Given the description of an element on the screen output the (x, y) to click on. 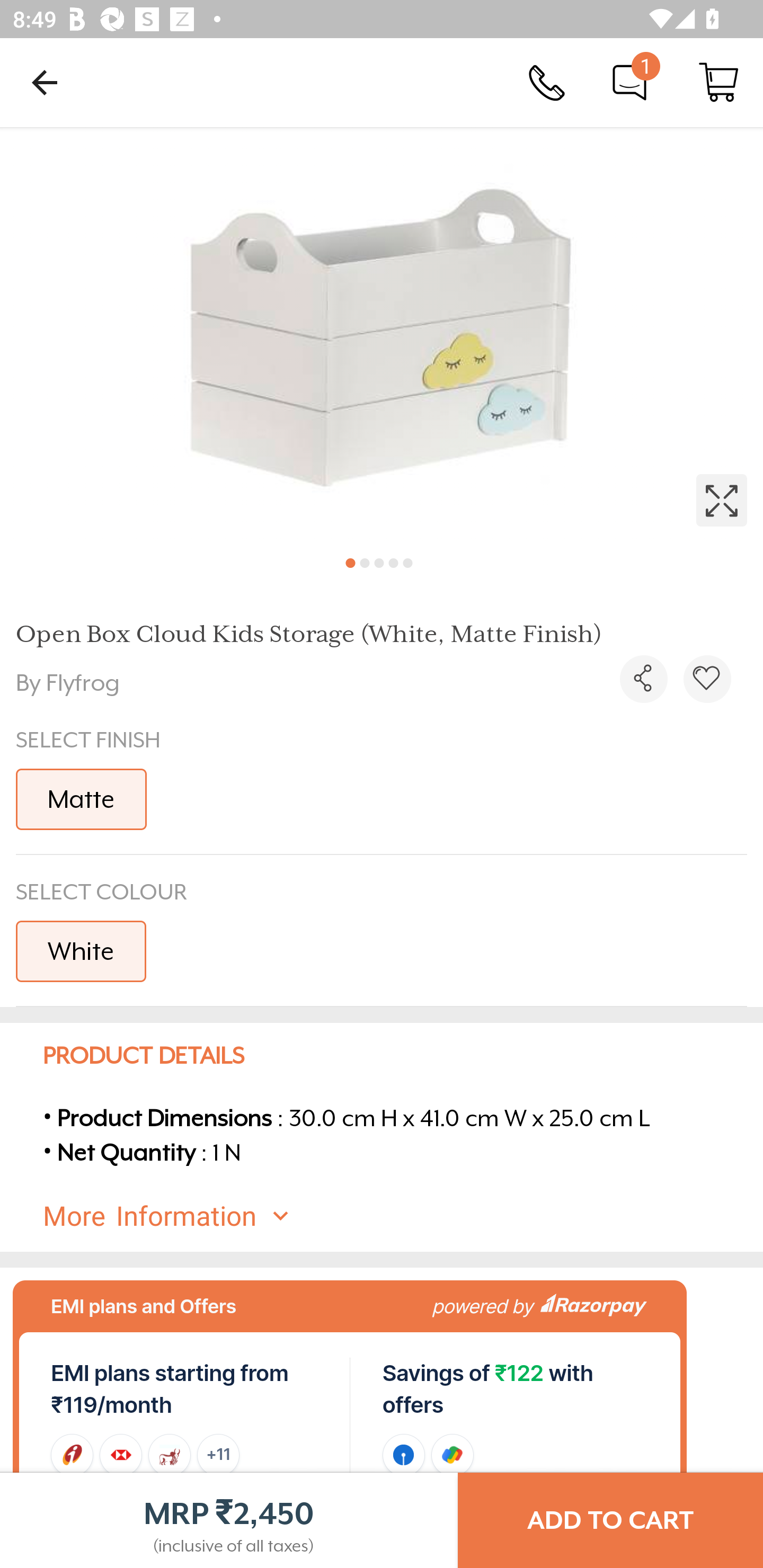
Navigate up (44, 82)
Call Us (546, 81)
Chat (629, 81)
Cart (718, 81)
 (381, 334)
 (643, 678)
 (706, 678)
Matte (81, 798)
White (81, 950)
More Information  (396, 1216)
ADD TO CART (610, 1520)
